Given the description of an element on the screen output the (x, y) to click on. 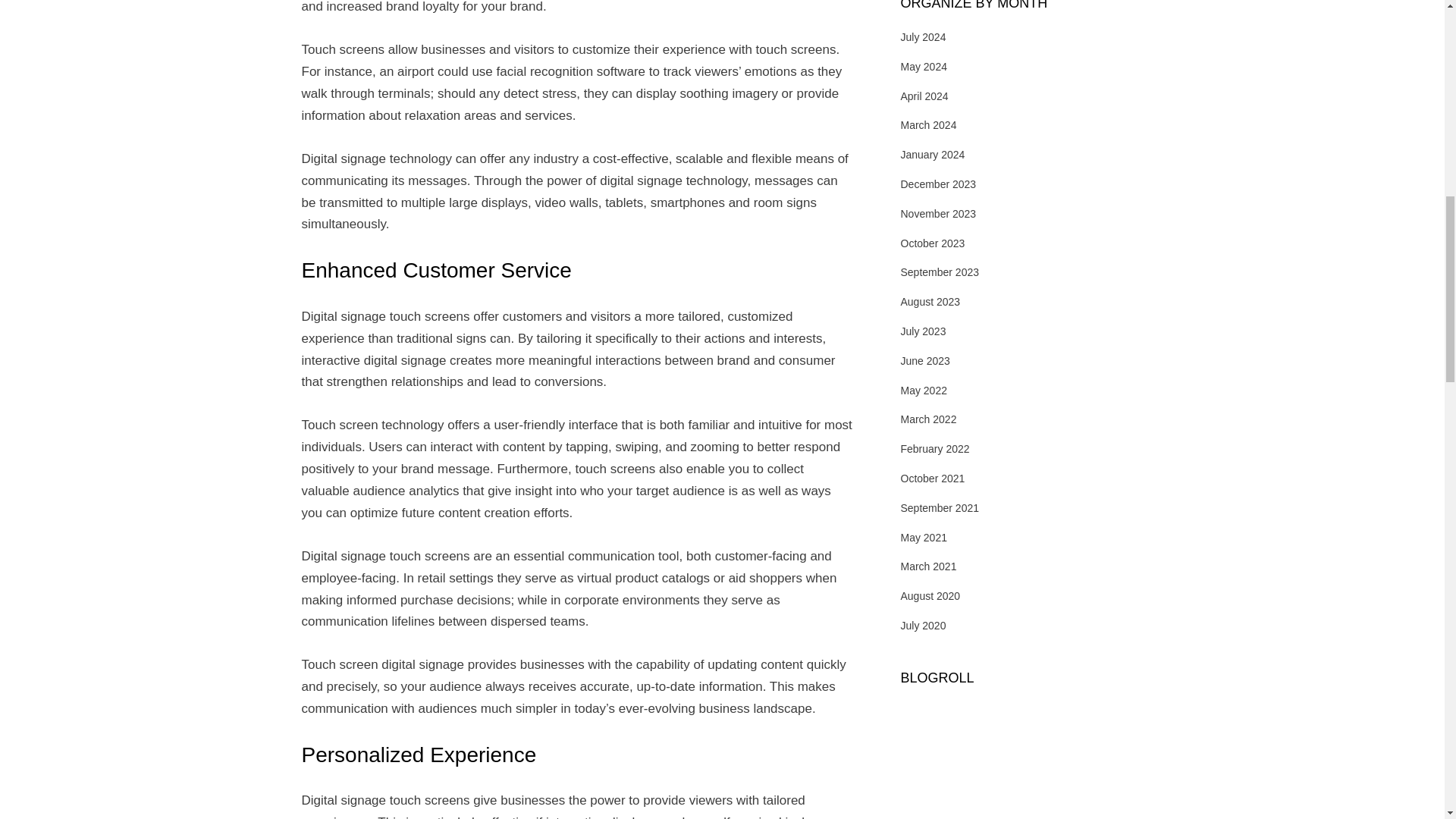
March 2024 (928, 124)
May 2024 (924, 66)
April 2024 (925, 96)
January 2024 (933, 154)
July 2024 (923, 37)
